Given the description of an element on the screen output the (x, y) to click on. 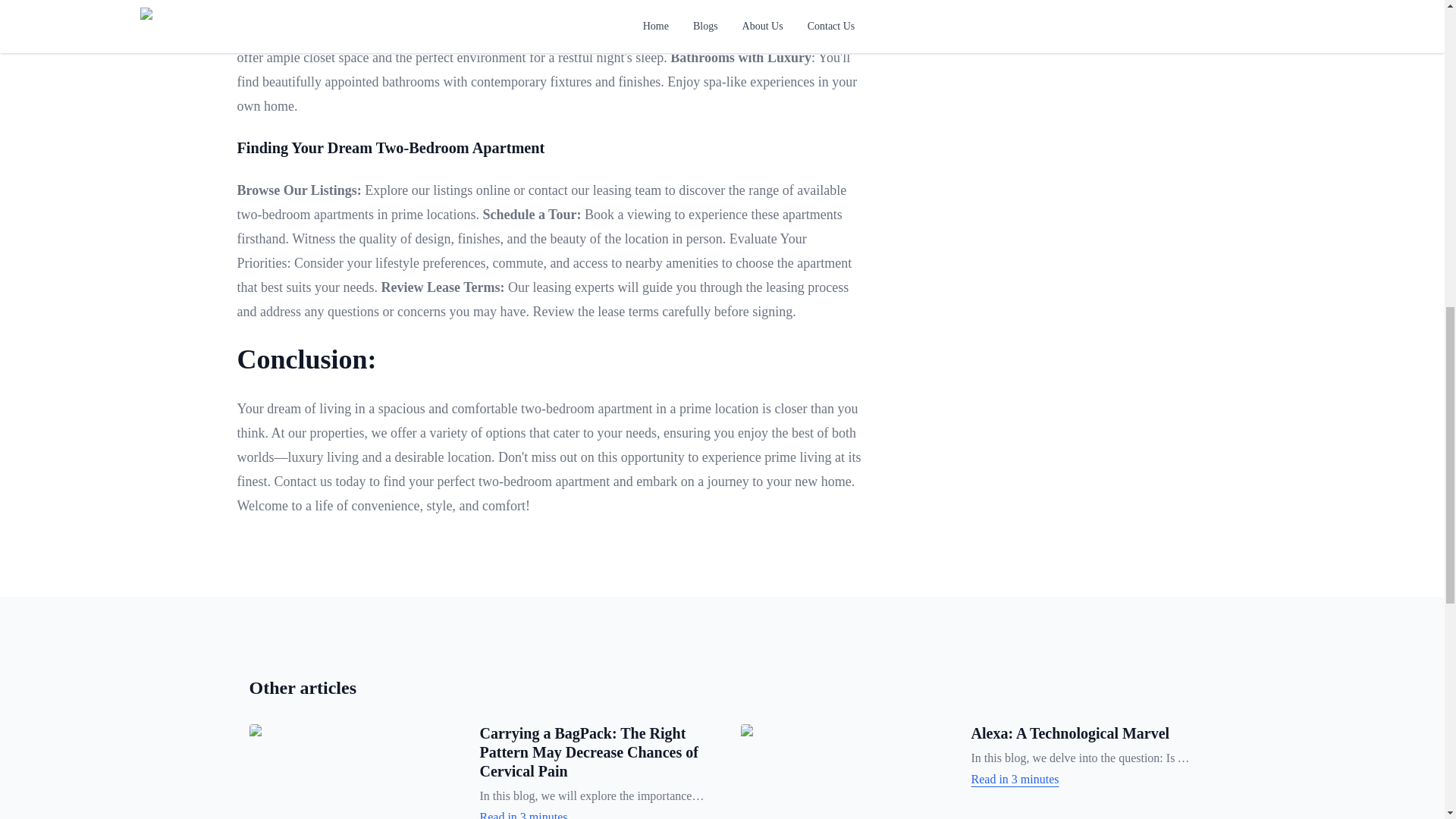
Read in 3 minutes (591, 813)
Read in 3 minutes (1083, 779)
Alexa: A Technological Marvel (1070, 733)
